Given the description of an element on the screen output the (x, y) to click on. 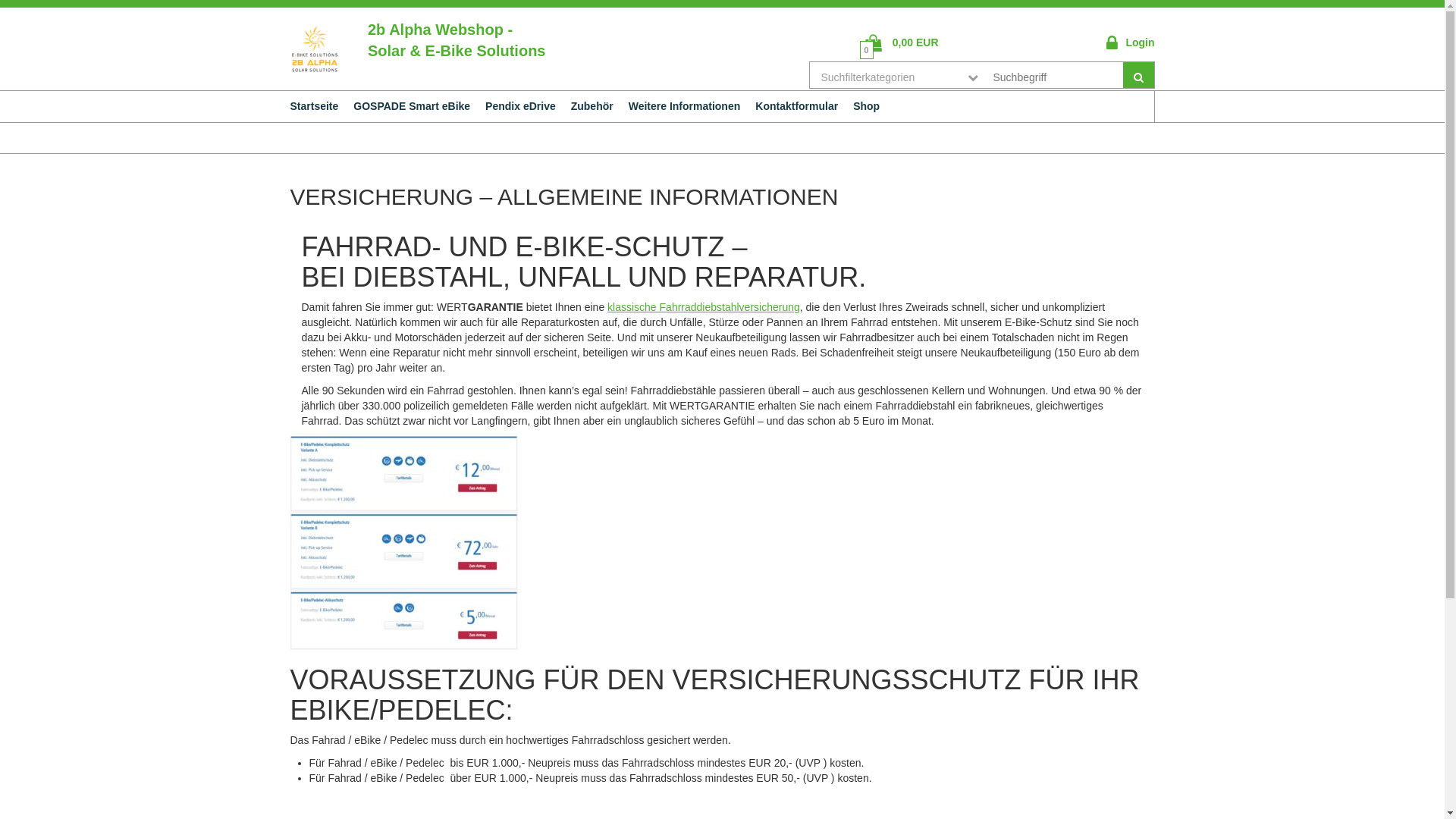
Shop Element type: text (866, 106)
2b Alpha Webshop - Element type: text (439, 29)
GOSPADE Smart eBike Element type: text (411, 106)
Pendix eDrive Element type: text (520, 106)
Login Element type: text (1130, 42)
Kontaktformular Element type: text (796, 106)
Zur Startseite Element type: hover (312, 47)
0,00 EUR
0 Element type: text (901, 42)
Startseite Element type: text (313, 106)
Weitere Informationen Element type: text (684, 106)
klassische Fahrraddiebstahlversicherung Element type: text (703, 307)
